Given the description of an element on the screen output the (x, y) to click on. 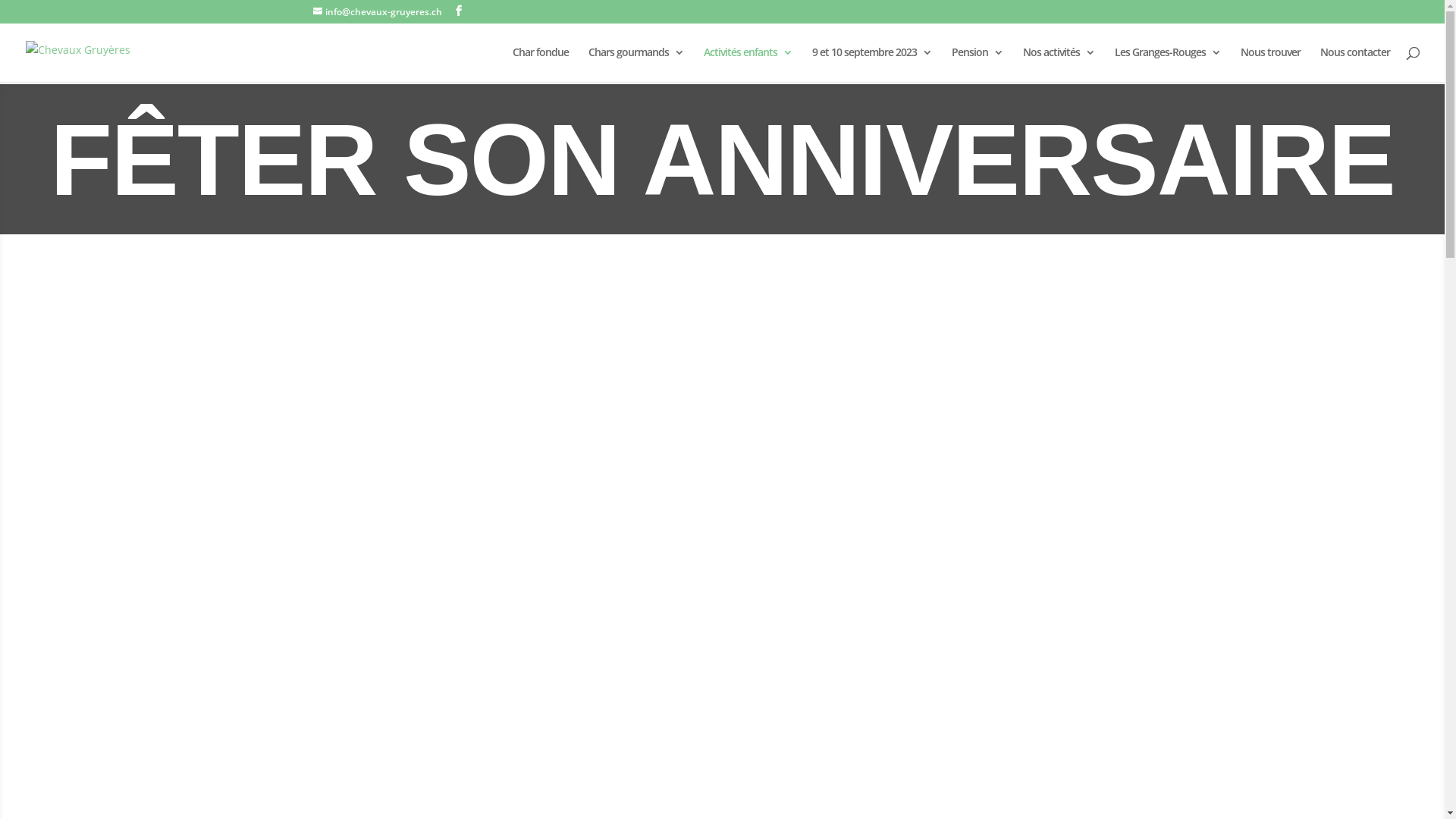
Les Granges-Rouges Element type: text (1167, 64)
Pension Element type: text (977, 64)
Nous contacter Element type: text (1355, 64)
Char fondue Element type: text (540, 64)
Nous trouver Element type: text (1270, 64)
info@chevaux-gruyeres.ch Element type: text (376, 11)
Chars gourmands Element type: text (636, 64)
9 et 10 septembre 2023 Element type: text (871, 64)
